Given the description of an element on the screen output the (x, y) to click on. 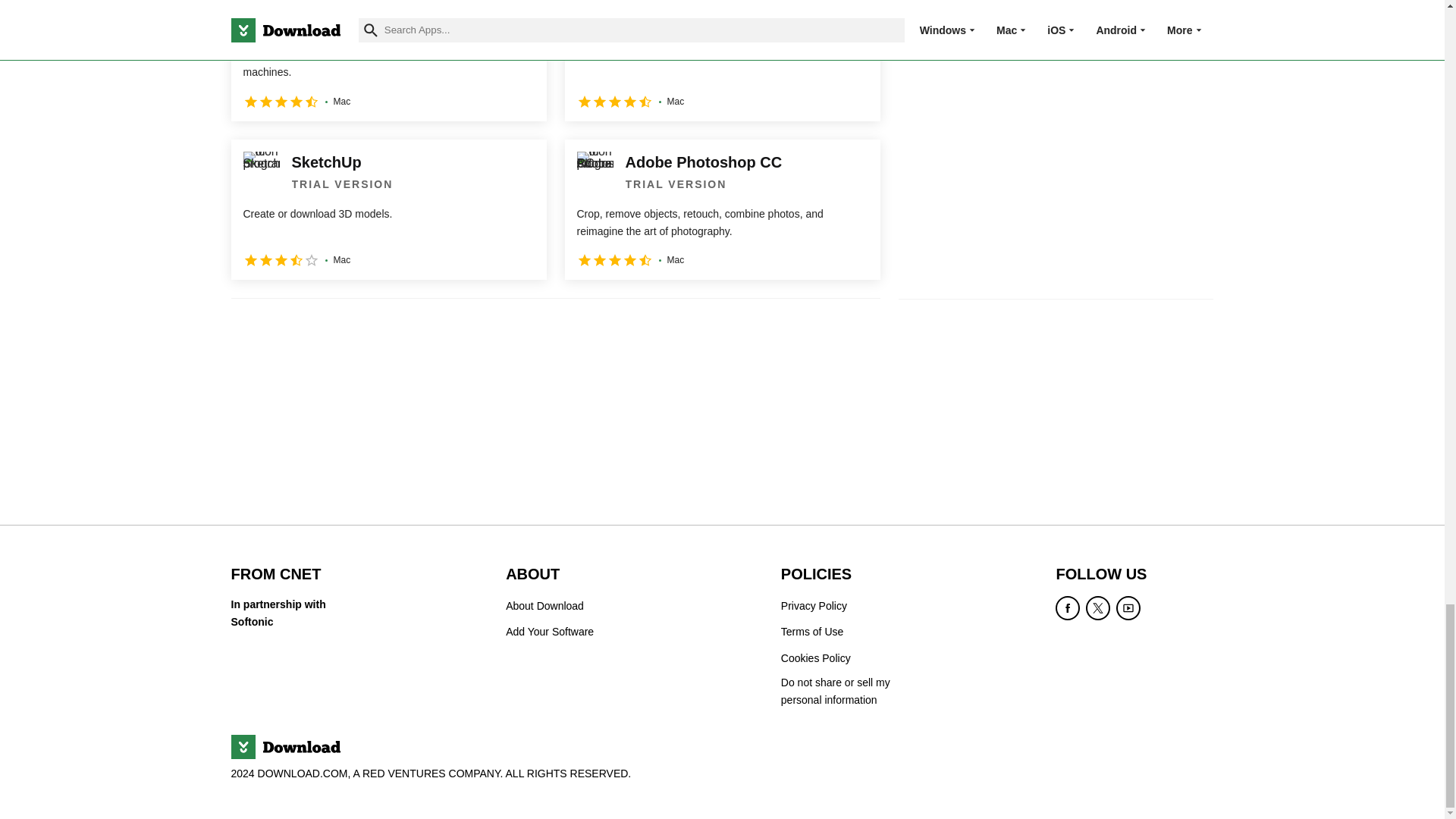
Adobe XD (721, 60)
Download.com (284, 746)
SketchUp (388, 209)
Adobe Photoshop CC (721, 209)
Become a Facebook fan of Download.com (1067, 607)
Silhouette Studio (388, 60)
